Given the description of an element on the screen output the (x, y) to click on. 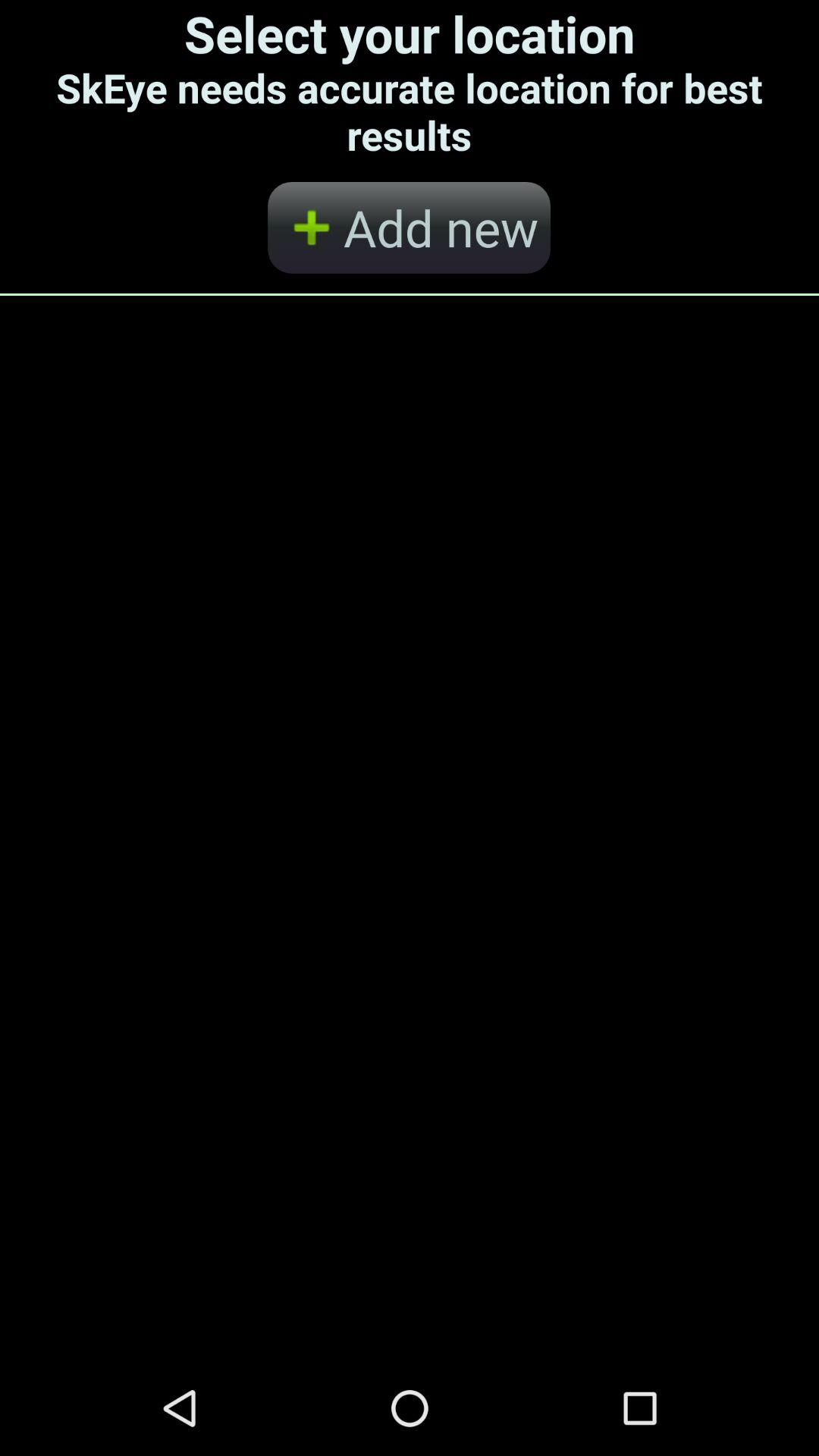
launch the add new button (408, 227)
